Given the description of an element on the screen output the (x, y) to click on. 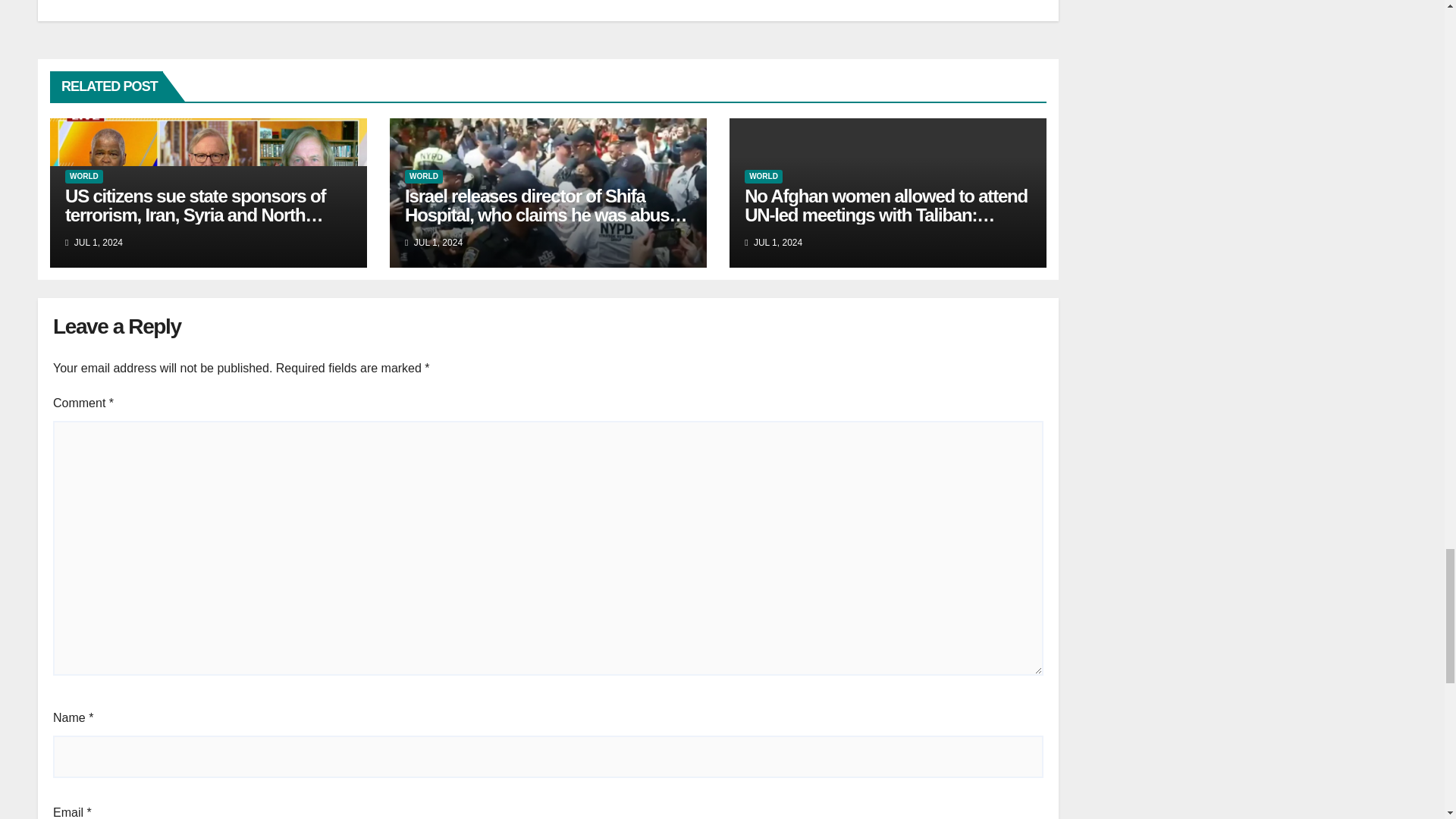
WORLD (84, 176)
WORLD (763, 176)
WORLD (423, 176)
